Given the description of an element on the screen output the (x, y) to click on. 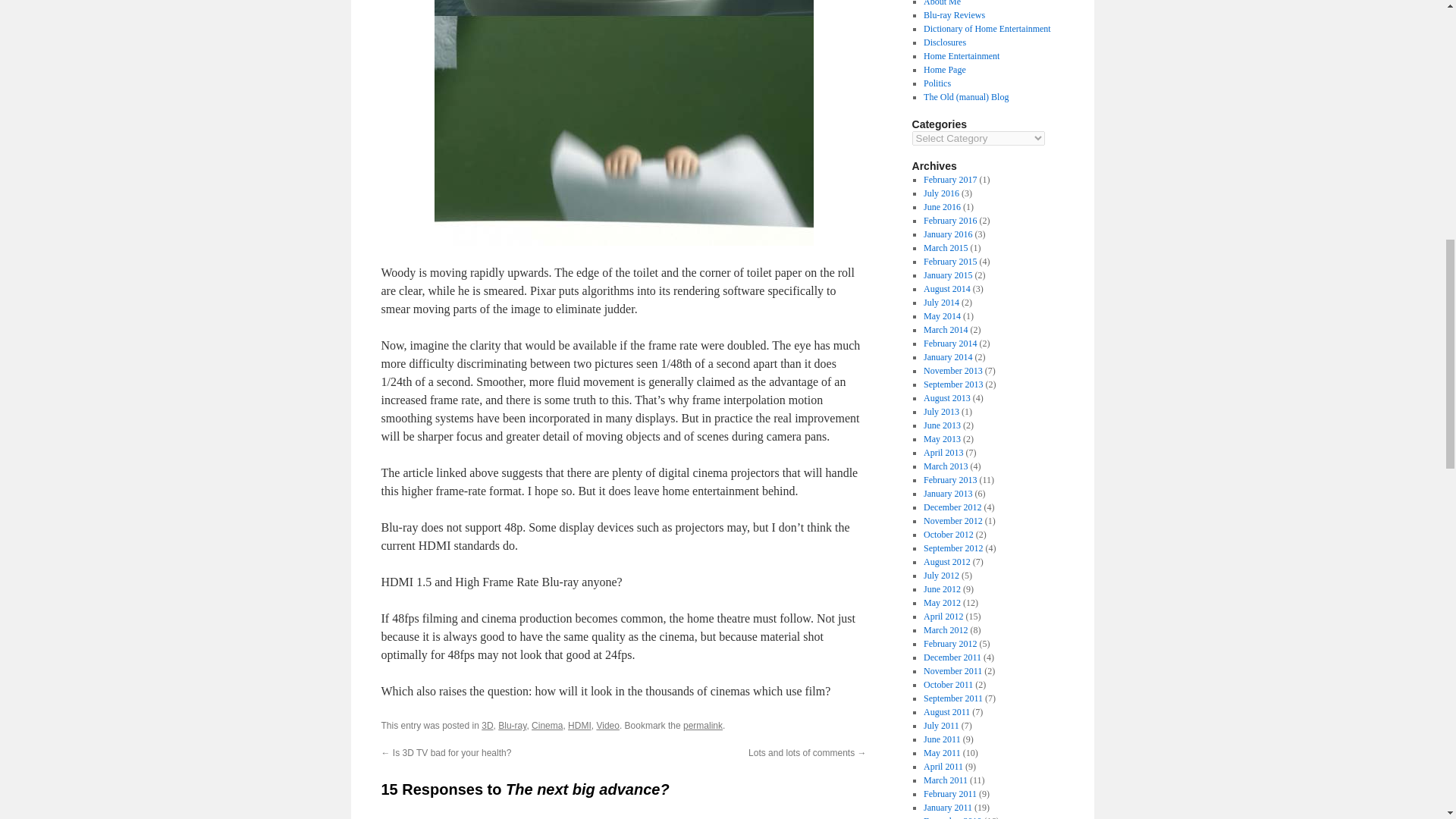
permalink (702, 725)
All about the website owner, Stephen Dawson (941, 3)
Longer articles about Home Entertainment (960, 55)
3D (487, 725)
A Dictionary of Home Entertainment (987, 28)
Blu-ray (511, 725)
HDMI (579, 725)
Video (606, 725)
Assorted political and op-ed articles (936, 82)
Permalink to The next big advance? (702, 725)
Where this blog used to be (966, 96)
Blu-ray disc reviews and DVD comparisons (954, 14)
Cinema (546, 725)
Smeared movement on Toy Story 3 (622, 122)
